Given the description of an element on the screen output the (x, y) to click on. 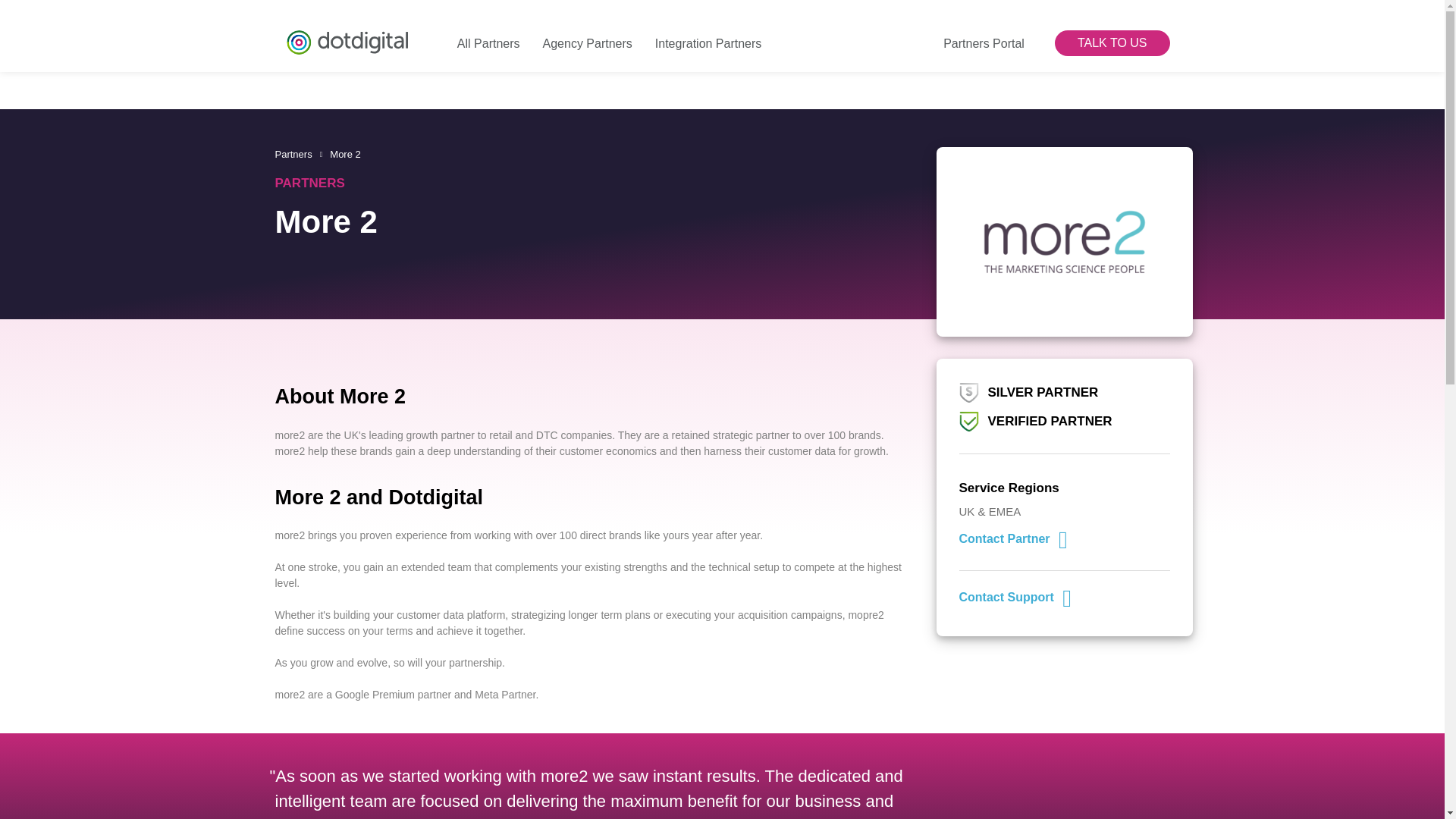
TALK TO US (1112, 43)
All Partners (484, 30)
Contact Support (1014, 596)
Partners Portal (980, 30)
Contact Partner (1012, 538)
Integration Partners (704, 30)
Partners (293, 153)
Agency Partners (583, 30)
